Given the description of an element on the screen output the (x, y) to click on. 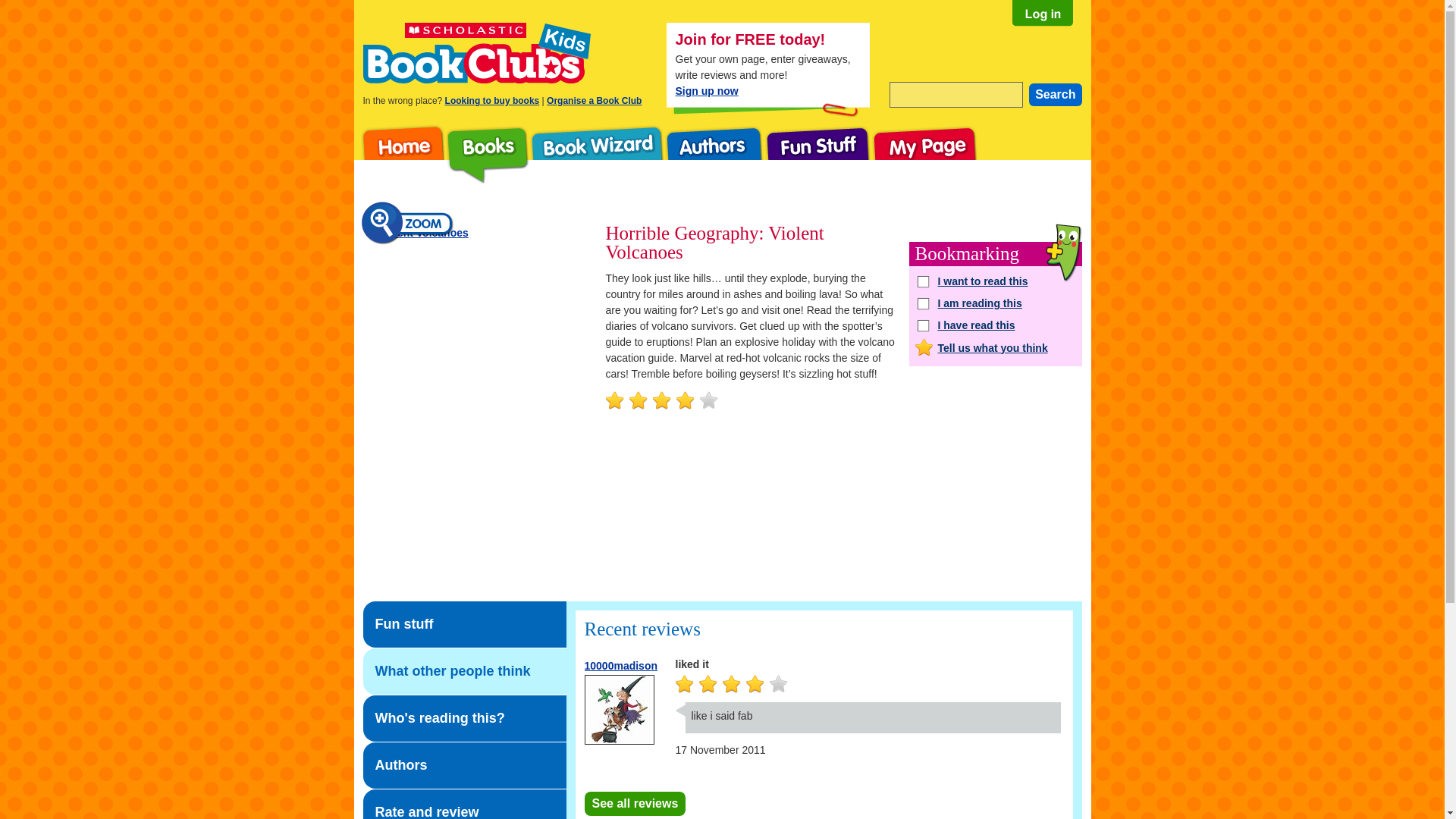
I am reading this (994, 303)
Search (1055, 94)
Fun stuff (817, 154)
What other people think (464, 671)
Who's reading this? (464, 718)
Tell us what you think (994, 347)
I want to read this (994, 280)
Looking to buy books (492, 100)
Sign up now (706, 91)
See all reviews (634, 803)
Organise a Book Club (594, 100)
Authors (464, 765)
Books (487, 154)
Books Wizard (596, 154)
Home (399, 154)
